Given the description of an element on the screen output the (x, y) to click on. 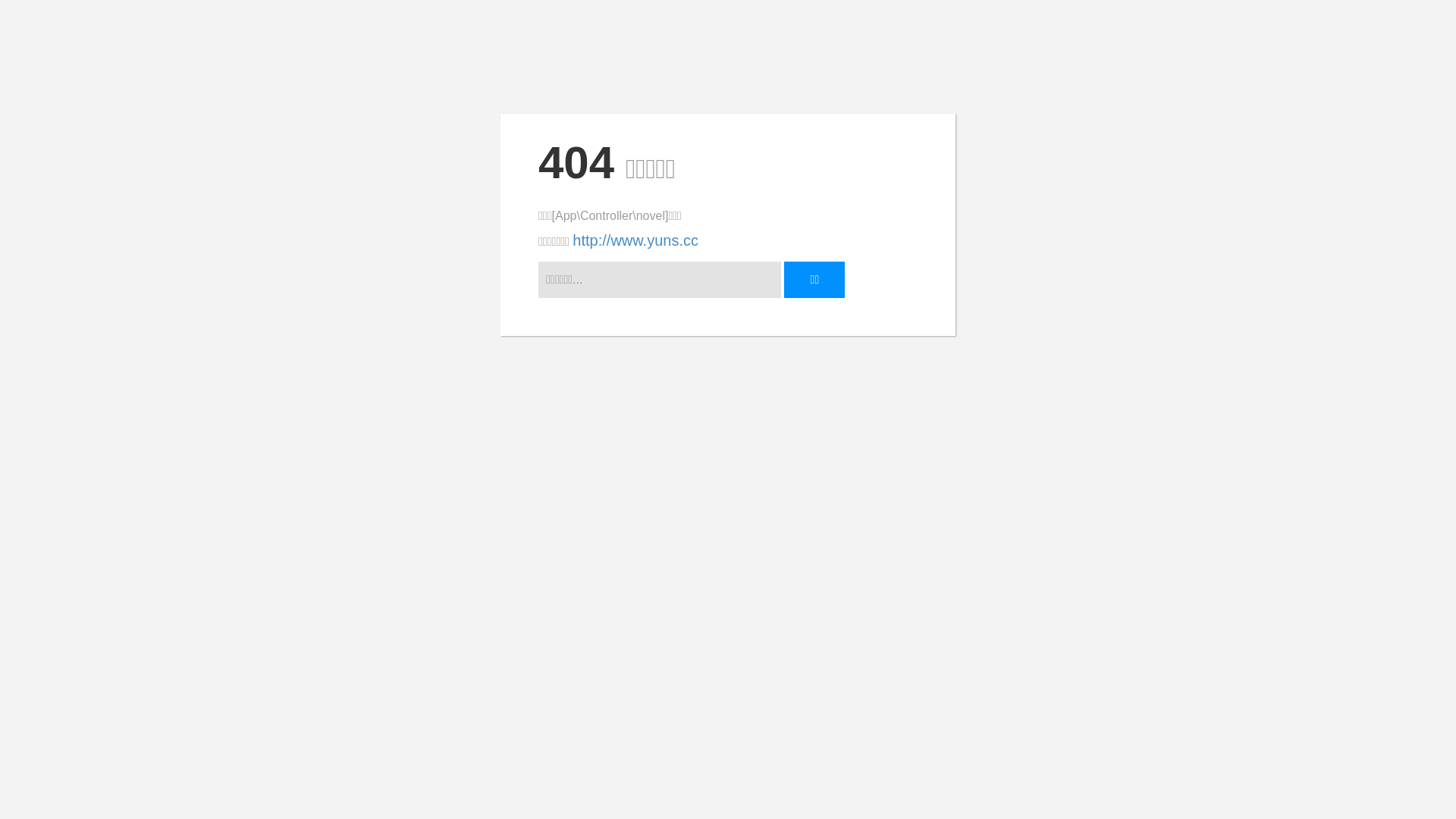
http://www.yuns.cc Element type: text (635, 240)
